Given the description of an element on the screen output the (x, y) to click on. 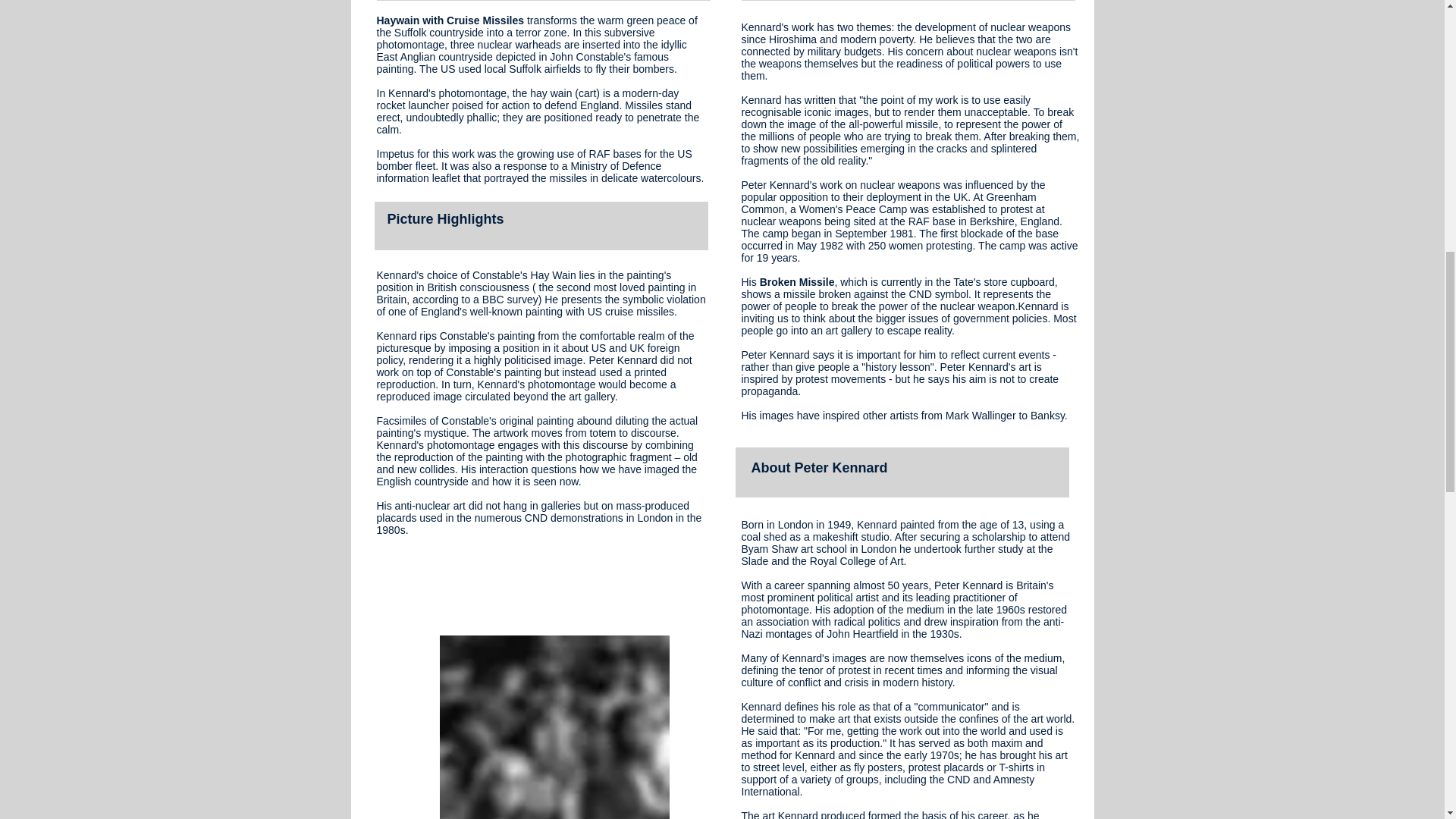
cnd demo.jpg (554, 727)
